Given the description of an element on the screen output the (x, y) to click on. 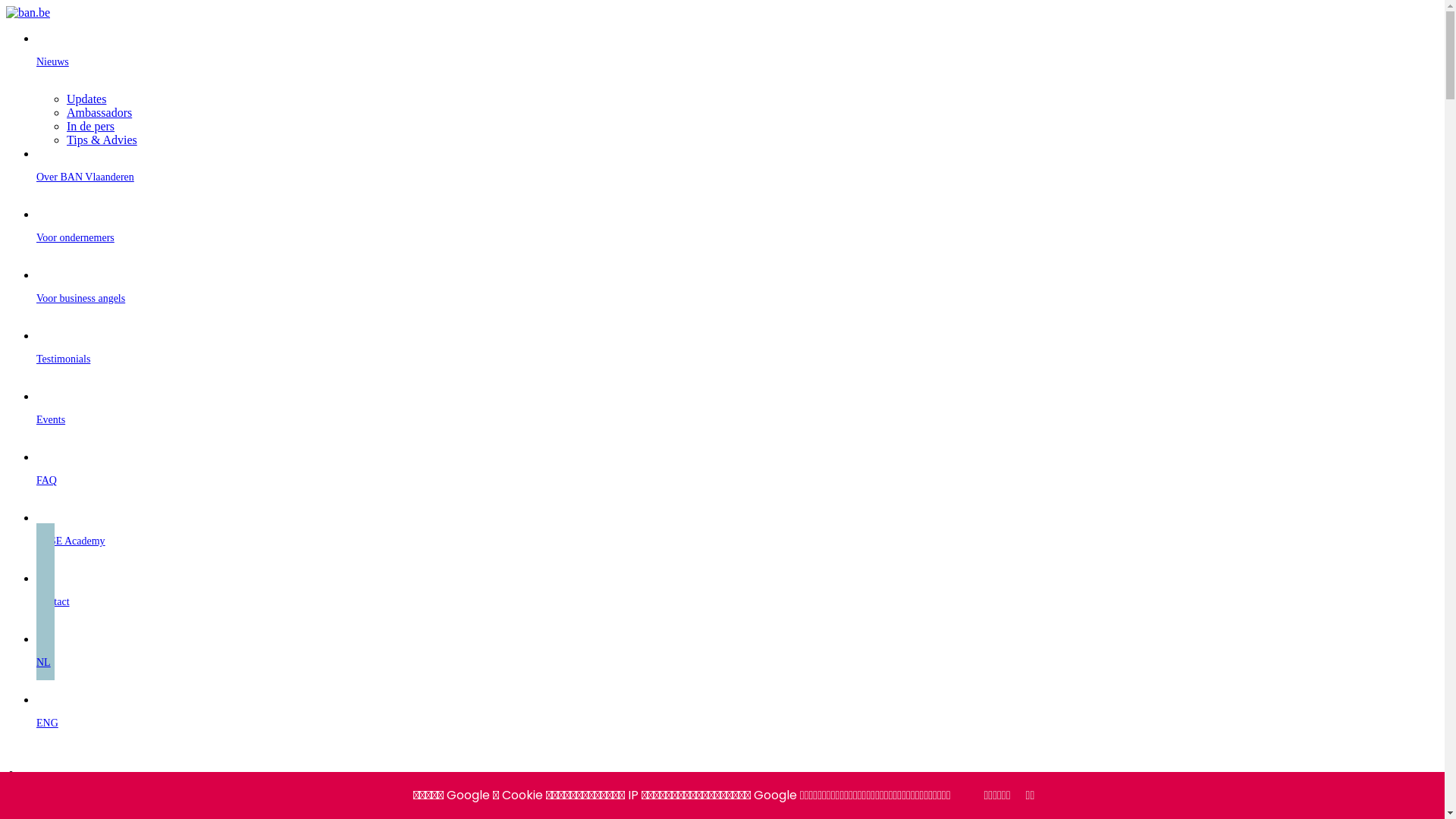
Updates Element type: text (86, 98)
In de pers Element type: text (90, 125)
Testimonials Element type: text (737, 358)
Over BAN Vlaanderen Element type: text (737, 176)
Ambassadors Element type: text (98, 112)
ENG Element type: text (737, 722)
Voor business angels Element type: text (737, 297)
Events Element type: text (737, 419)
NL Element type: text (737, 661)
Tips & Advies Element type: text (101, 139)
Voor ondernemers Element type: text (737, 237)
FAQ Element type: text (737, 479)
Contact Element type: text (737, 601)
WISE Academy Element type: text (737, 540)
